Given the description of an element on the screen output the (x, y) to click on. 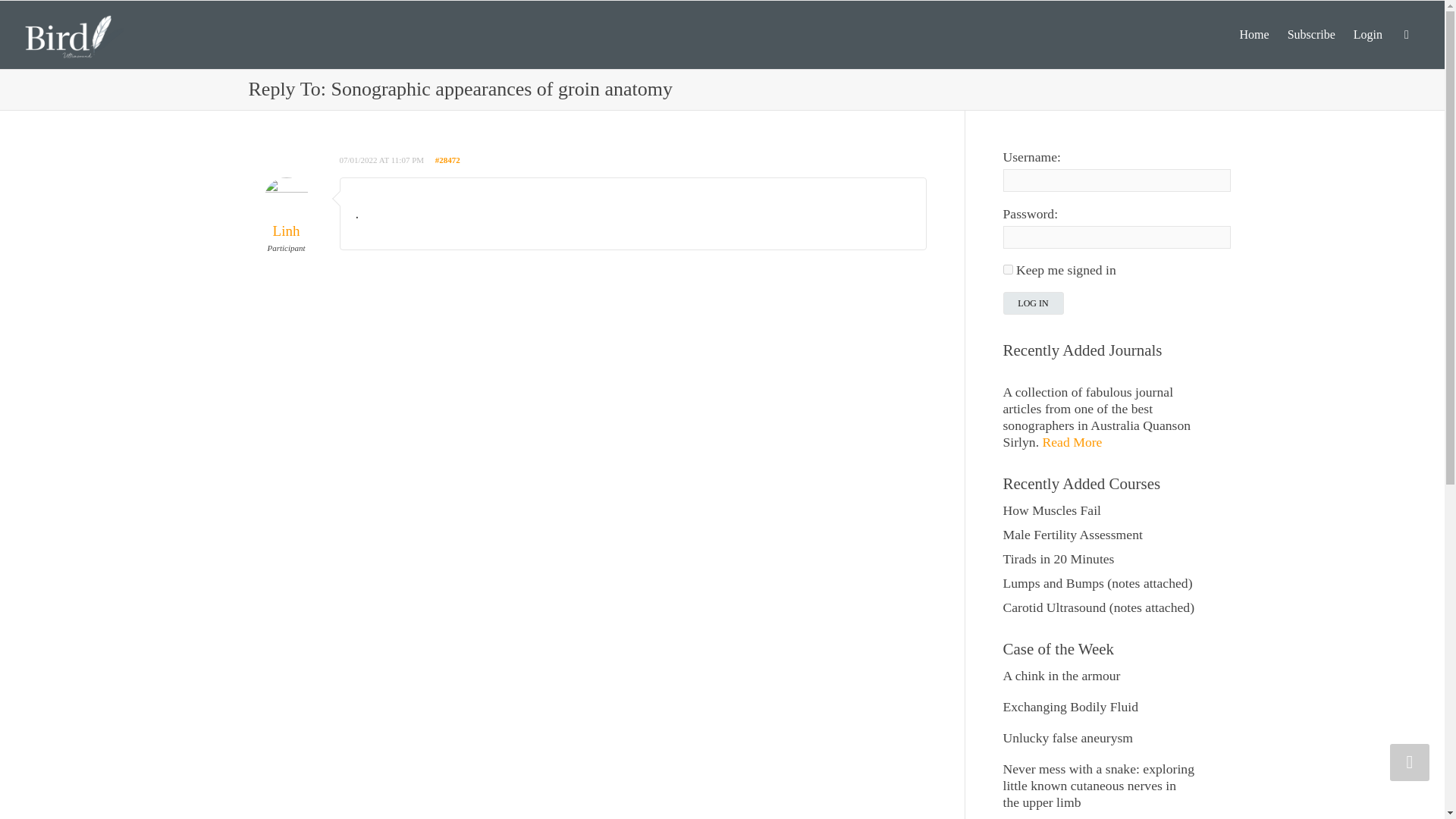
View Linh's profile (286, 214)
Tirads in 20 Minutes (1058, 558)
Tirads in 20 Minutes (1058, 558)
LOG IN (1032, 302)
Bird Ultrasound (74, 33)
Male Fertility Assessment (1072, 534)
Unlucky false aneurysm (1067, 737)
How Muscles Fail (1051, 509)
Read More (1072, 441)
